Given the description of an element on the screen output the (x, y) to click on. 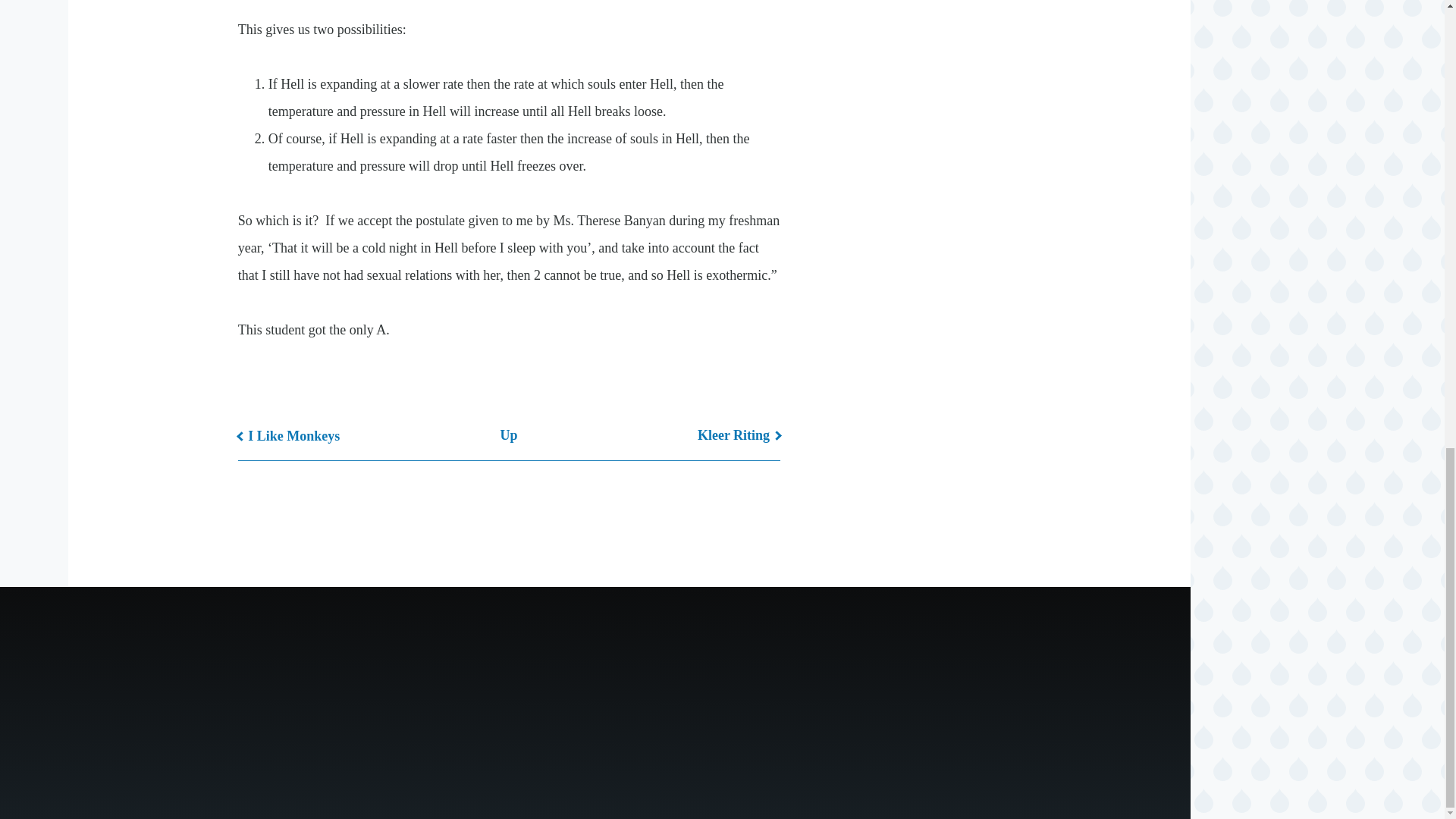
Go to previous page (289, 435)
I Like Monkeys (289, 435)
Go to next page (738, 435)
Kleer Riting (738, 435)
